Given the description of an element on the screen output the (x, y) to click on. 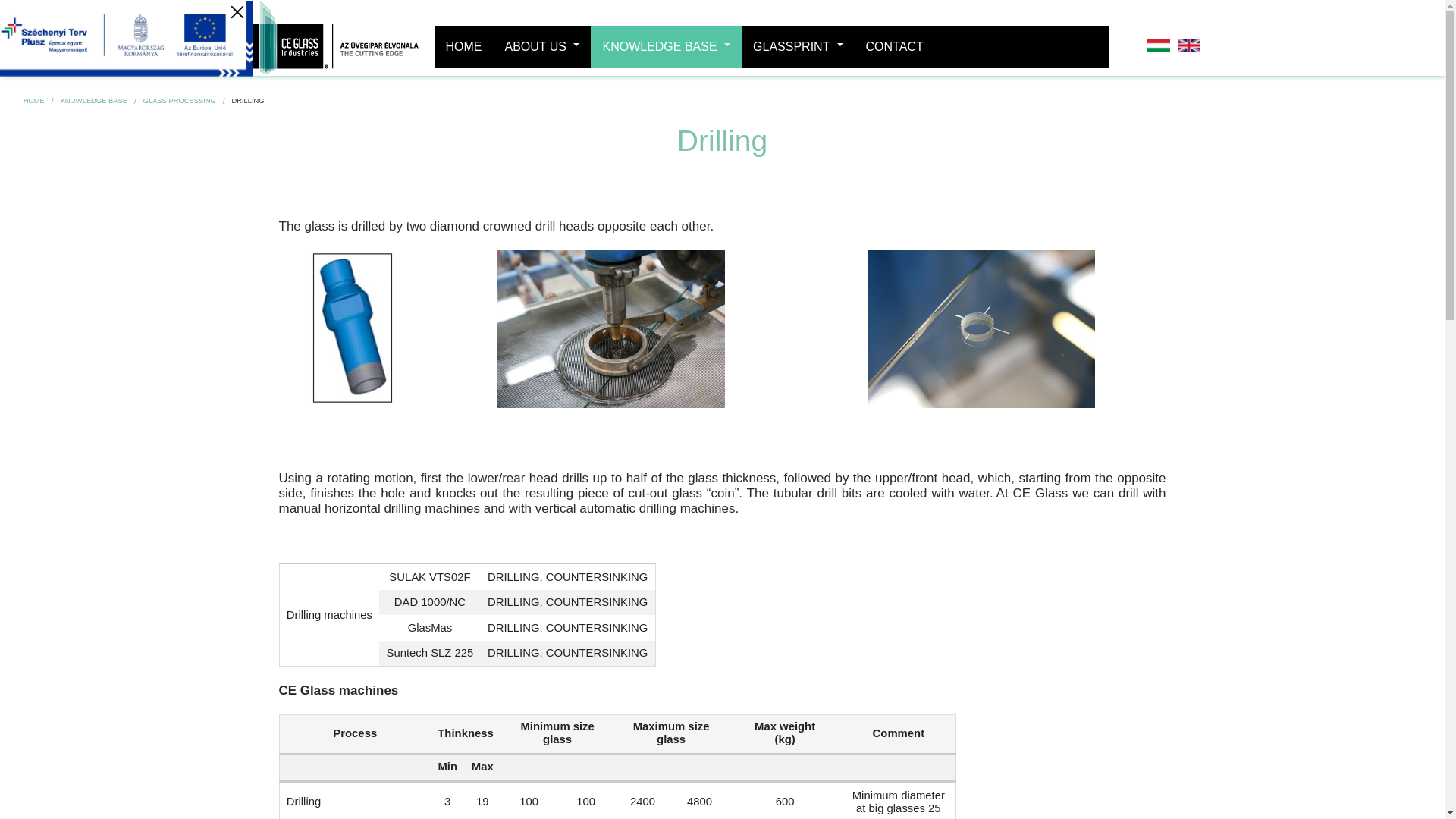
Drilling (1187, 43)
Glass Drilling CE Glass Industries (611, 328)
Magyar (1158, 45)
Glass Drilling CE Glass Industries (980, 328)
Glass Drilling CE Glass Industries (980, 328)
HOME (463, 46)
Glass Drilling CE Glass Industries (611, 328)
English (1187, 45)
KNOWLEDGE BASE (666, 46)
The cutting edge (331, 38)
ABOUT US (542, 46)
